Given the description of an element on the screen output the (x, y) to click on. 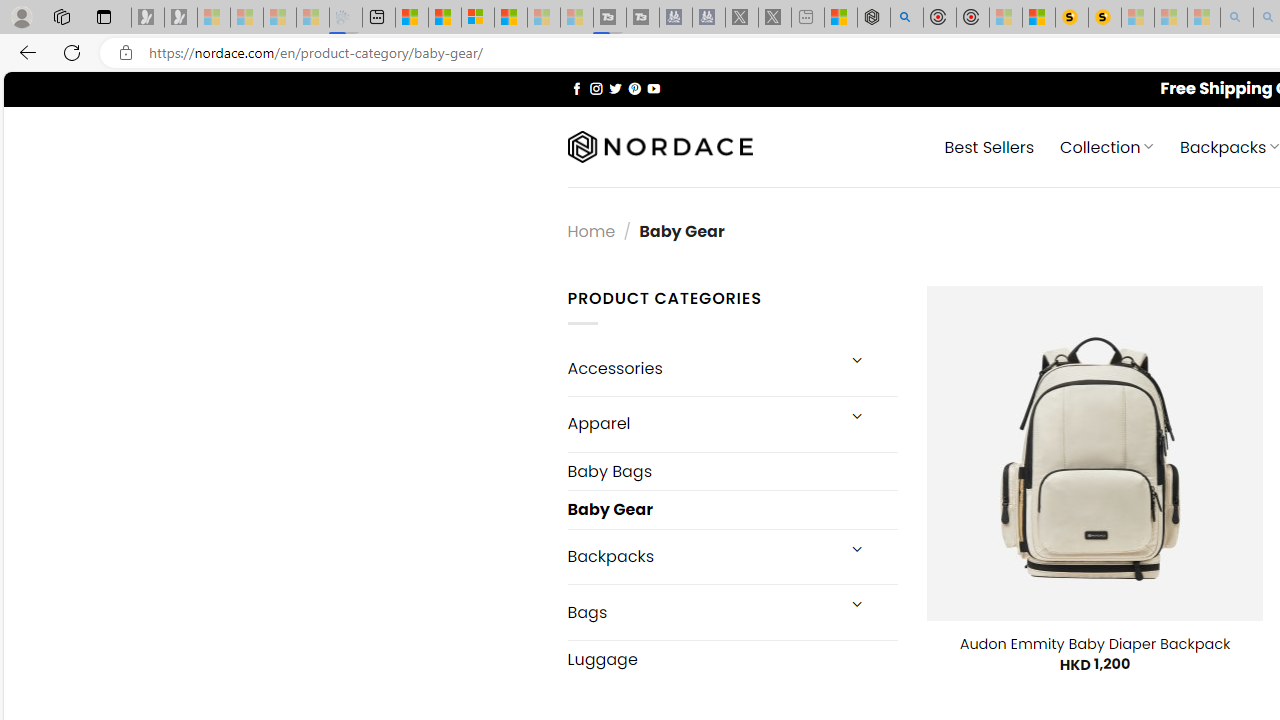
Luggage (732, 659)
Follow on Facebook (576, 88)
Bags (700, 613)
Audon Emmity Baby Diaper Backpack (1094, 643)
Apparel (700, 423)
Backpacks (700, 556)
